Given the description of an element on the screen output the (x, y) to click on. 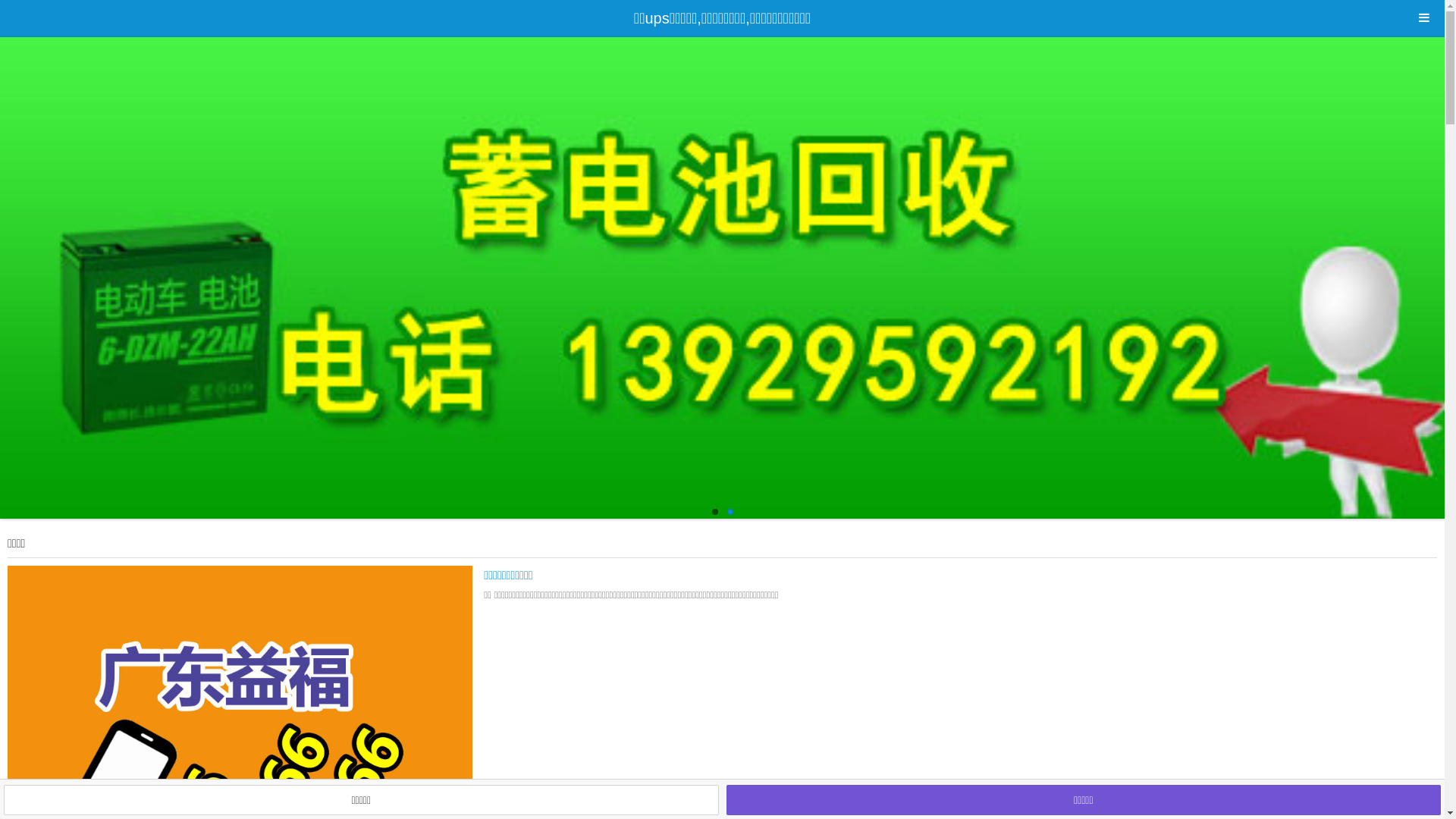
2 Element type: text (729, 511)
1 Element type: text (714, 511)
